Given the description of an element on the screen output the (x, y) to click on. 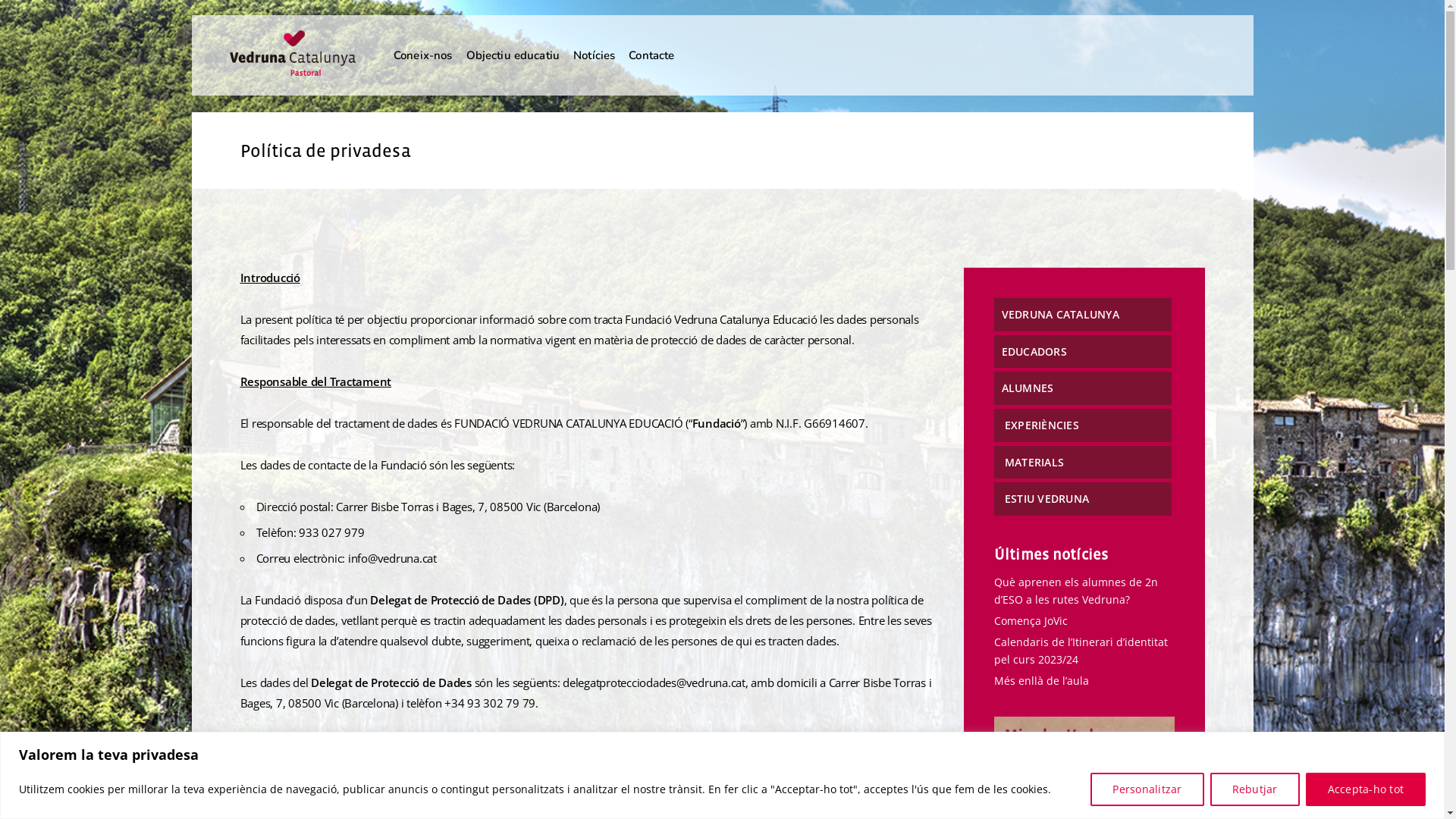
Objectiu educatiu Element type: text (512, 55)
ALUMNES Element type: text (1027, 387)
ESTIU VEDRUNA Element type: text (1044, 498)
Coneix-nos Element type: text (422, 55)
EDUCADORS Element type: text (1033, 351)
Contacte Element type: text (651, 55)
Accepta-ho tot Element type: text (1365, 788)
Personalitzar Element type: text (1146, 788)
MATERIALS Element type: text (1032, 462)
Rebutjar Element type: text (1254, 788)
VEDRUNA CATALUNYA Element type: text (1059, 314)
